Given the description of an element on the screen output the (x, y) to click on. 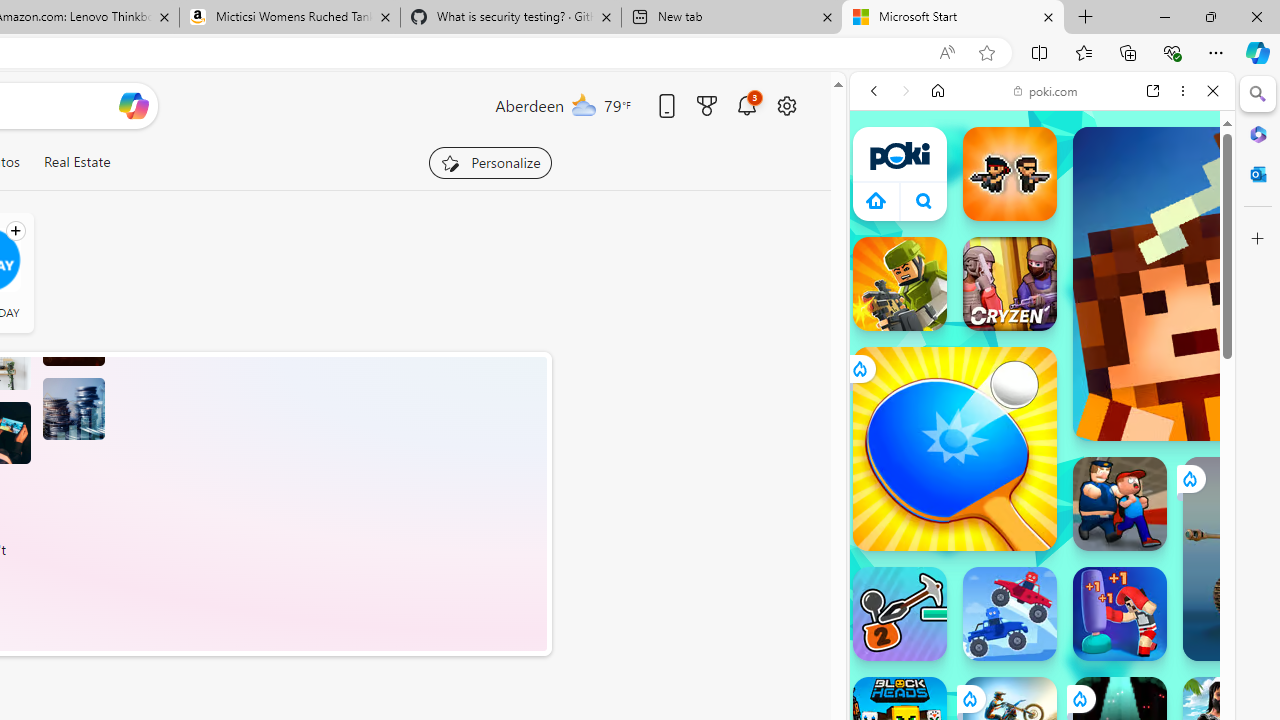
Real Estate (76, 162)
Class: B_5ykBA46kDOxiz_R9wm (923, 200)
Shooting Games (1042, 519)
Show More Car Games (1164, 472)
Ping Pong Go! (954, 448)
Zombie Rush (1009, 173)
Battle Wheels Battle Wheels (1009, 613)
Poki (1034, 288)
Io Games (1042, 617)
Two Player Games (1042, 567)
